Given the description of an element on the screen output the (x, y) to click on. 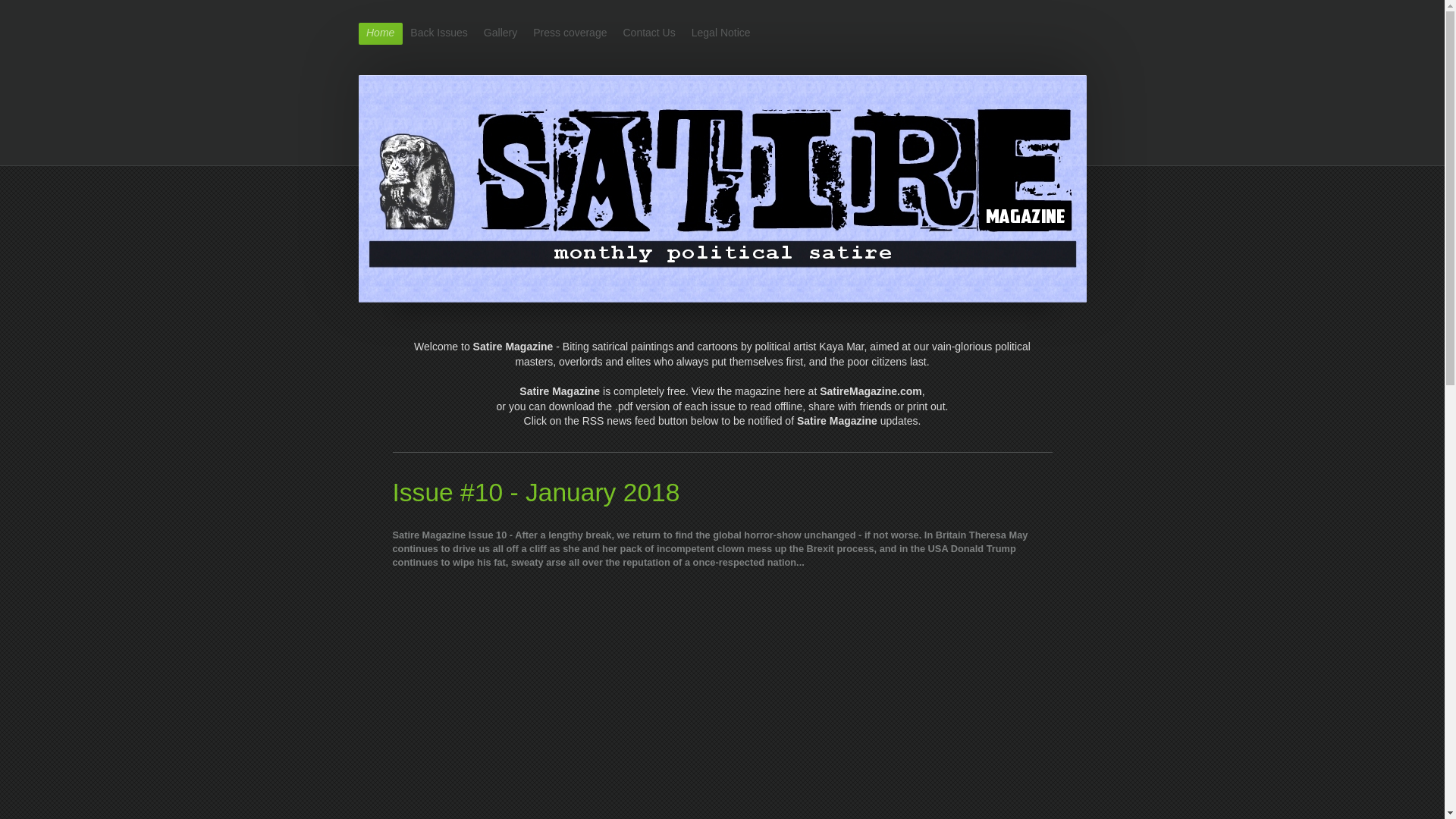
Contact Us (648, 33)
Legal Notice (720, 33)
Press coverage (569, 33)
Gallery (500, 33)
Back Issues (439, 33)
Home (379, 33)
